Given the description of an element on the screen output the (x, y) to click on. 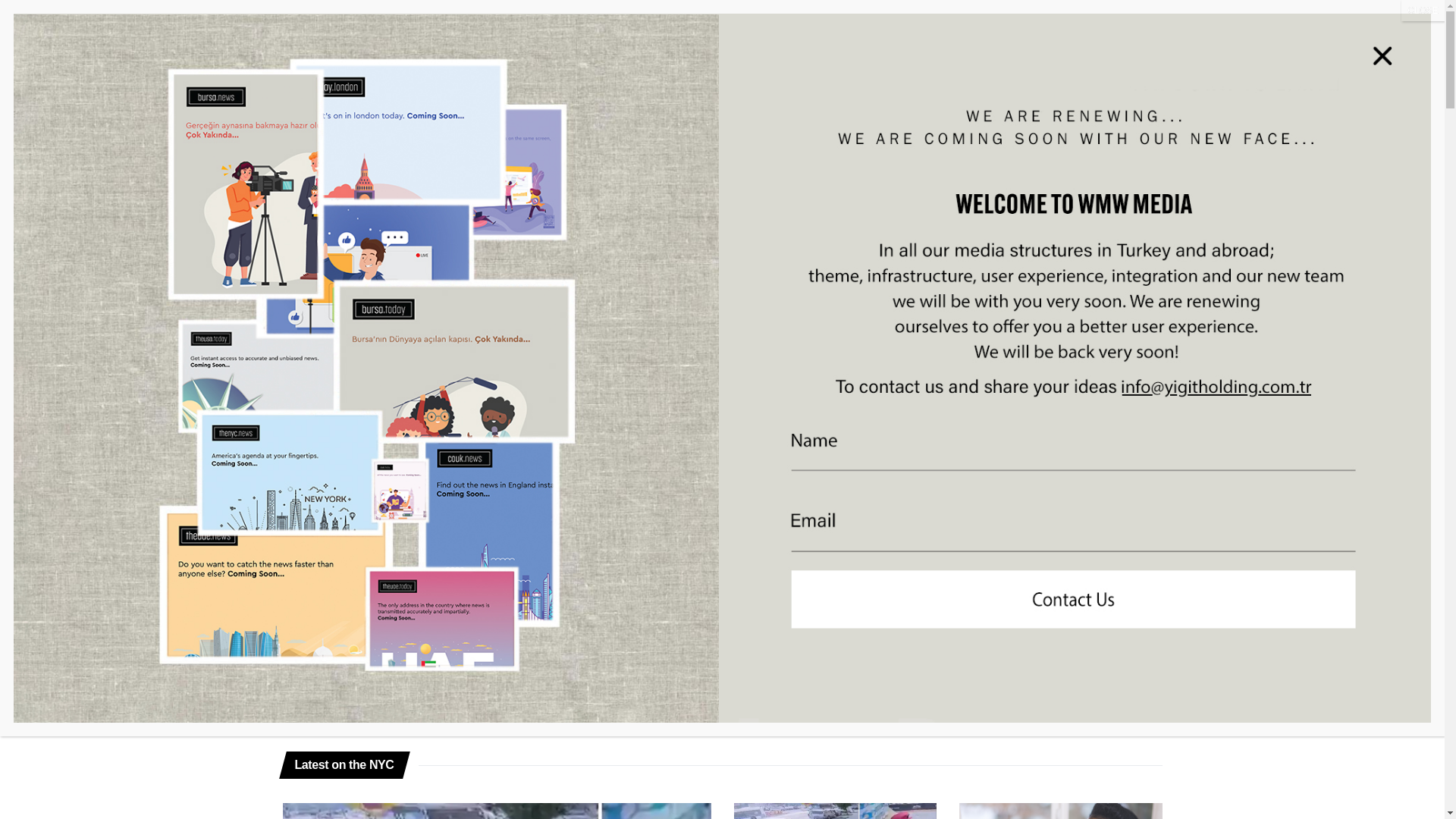
View all posts by WMW MEDIA (855, 451)
